Given the description of an element on the screen output the (x, y) to click on. 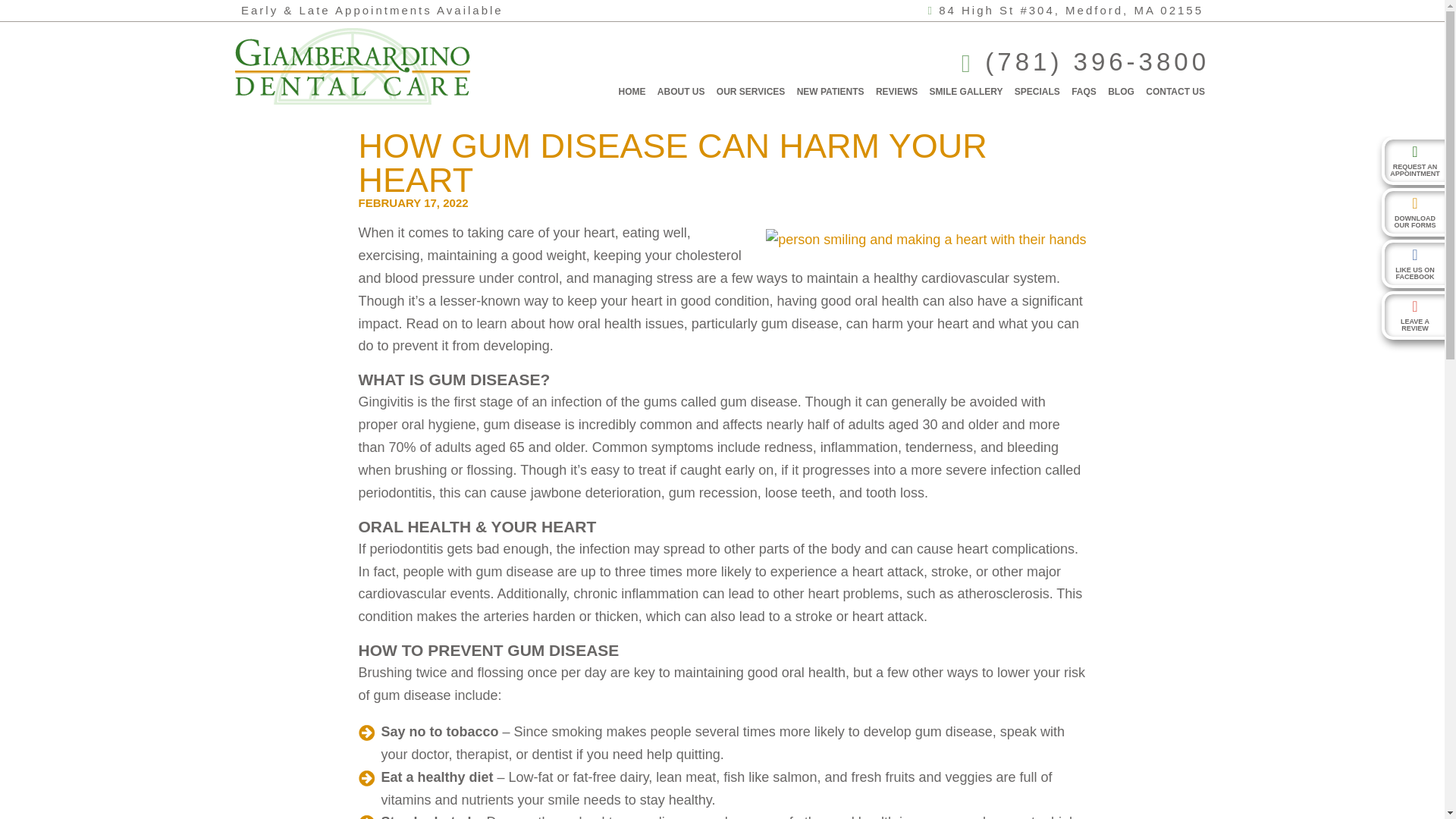
BLOG (1120, 91)
OUR SERVICES (750, 91)
ABOUT US (681, 91)
CONTACT US (1175, 91)
HOME (632, 91)
FAQS (1083, 91)
NEW PATIENTS (830, 91)
SPECIALS (1037, 91)
HOW GUM DISEASE CAN HARM YOUR HEART (672, 162)
SMILE GALLERY (965, 91)
